Given the description of an element on the screen output the (x, y) to click on. 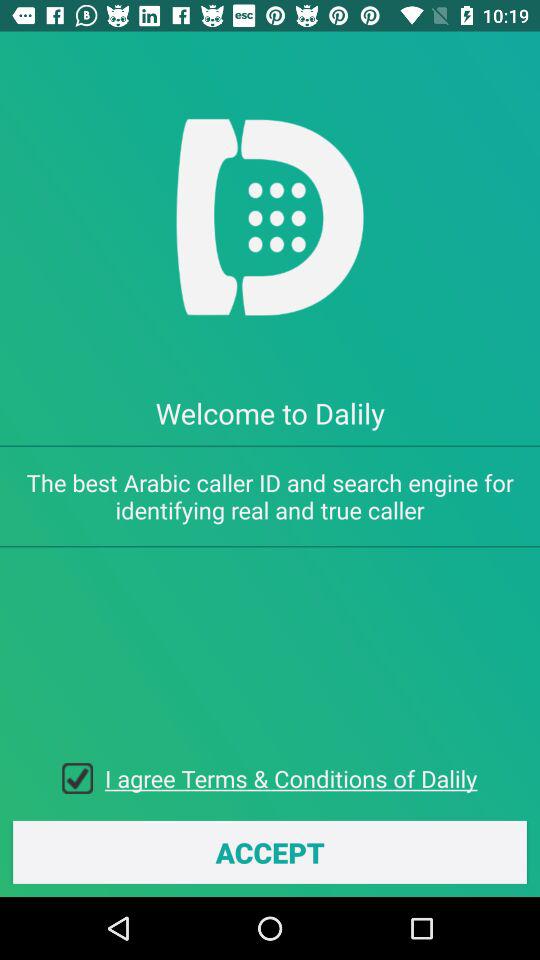
select the item next to the i agree terms item (83, 778)
